Given the description of an element on the screen output the (x, y) to click on. 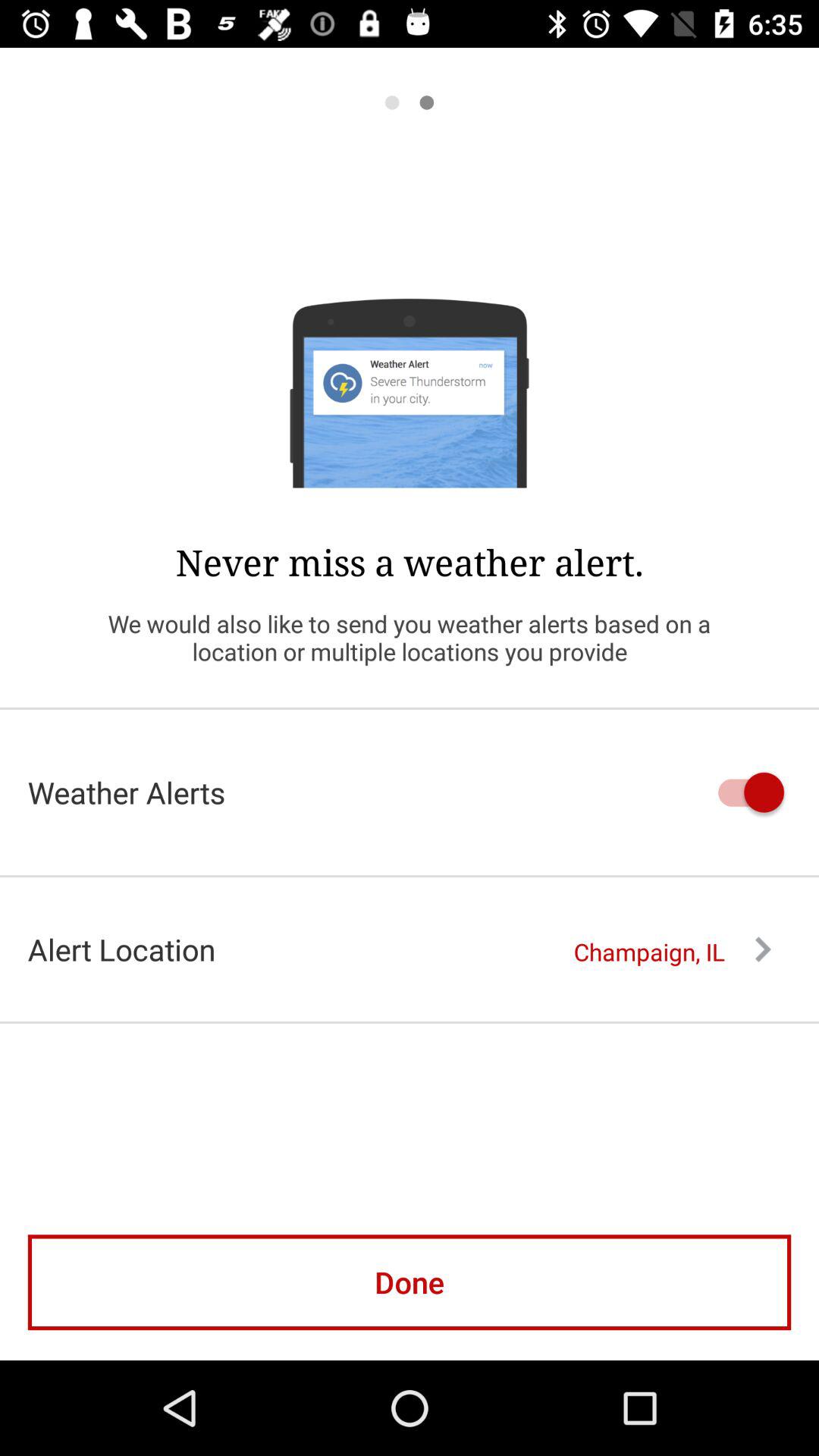
choose the item to the right of alert location (672, 951)
